Given the description of an element on the screen output the (x, y) to click on. 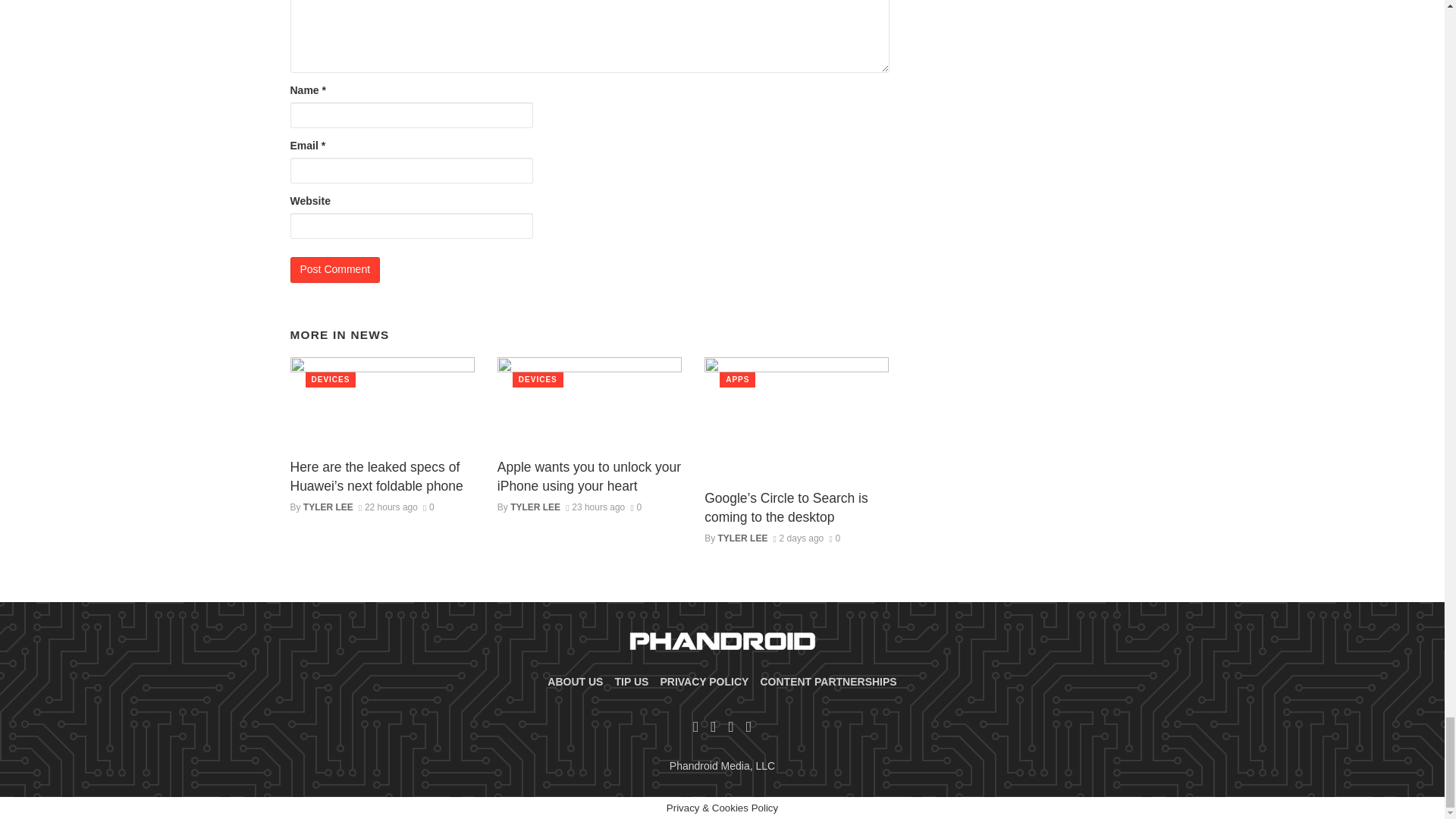
Post Comment (334, 269)
